Given the description of an element on the screen output the (x, y) to click on. 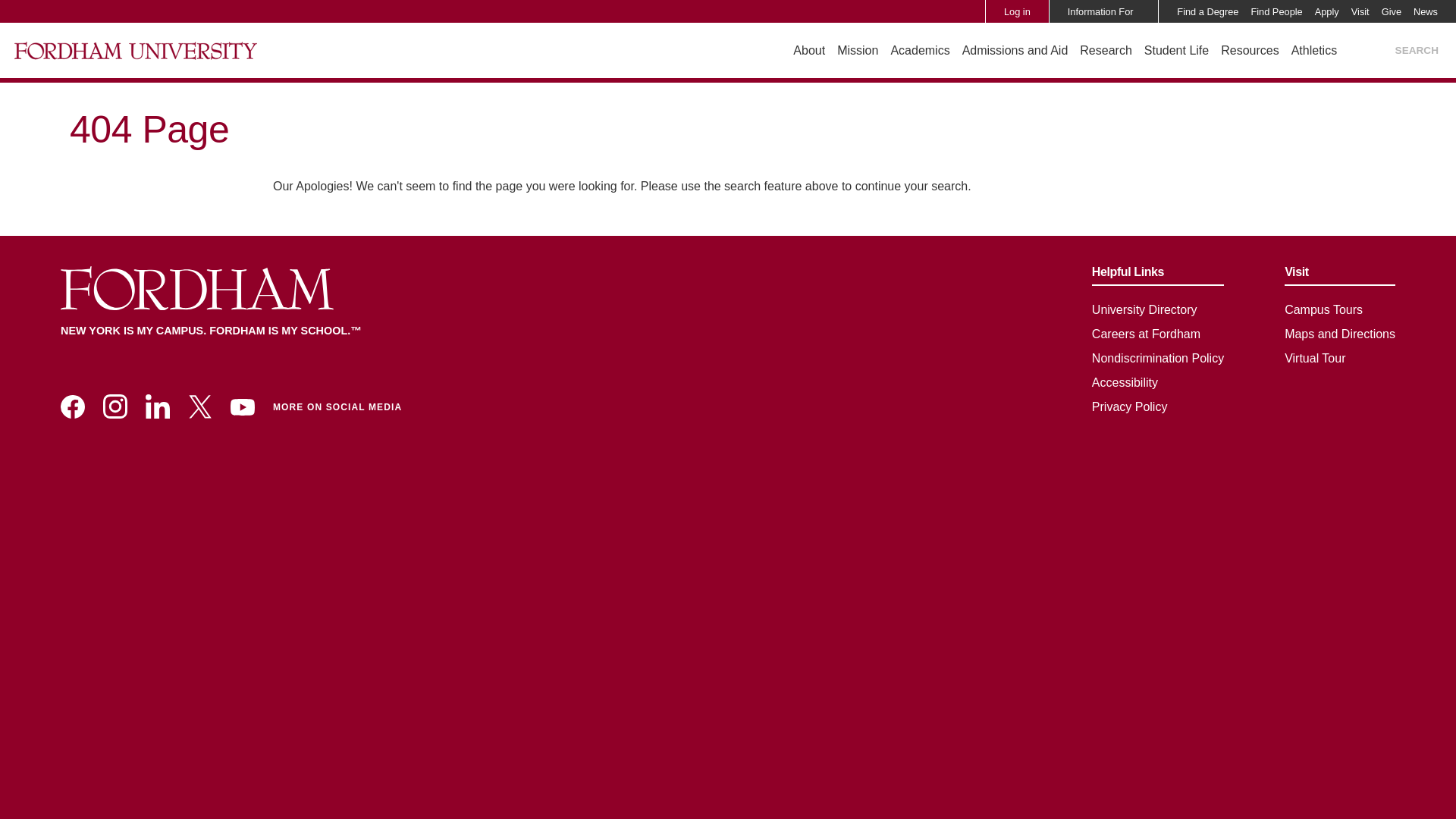
Visit (1360, 11)
Log in (1016, 11)
Mission (857, 49)
News (1425, 11)
Find a Degree (1207, 11)
Find People (1275, 11)
Search icon (1377, 51)
Give (1391, 11)
Apply (1326, 11)
Information for dropdown links (1138, 10)
Information For (1100, 11)
